Given the description of an element on the screen output the (x, y) to click on. 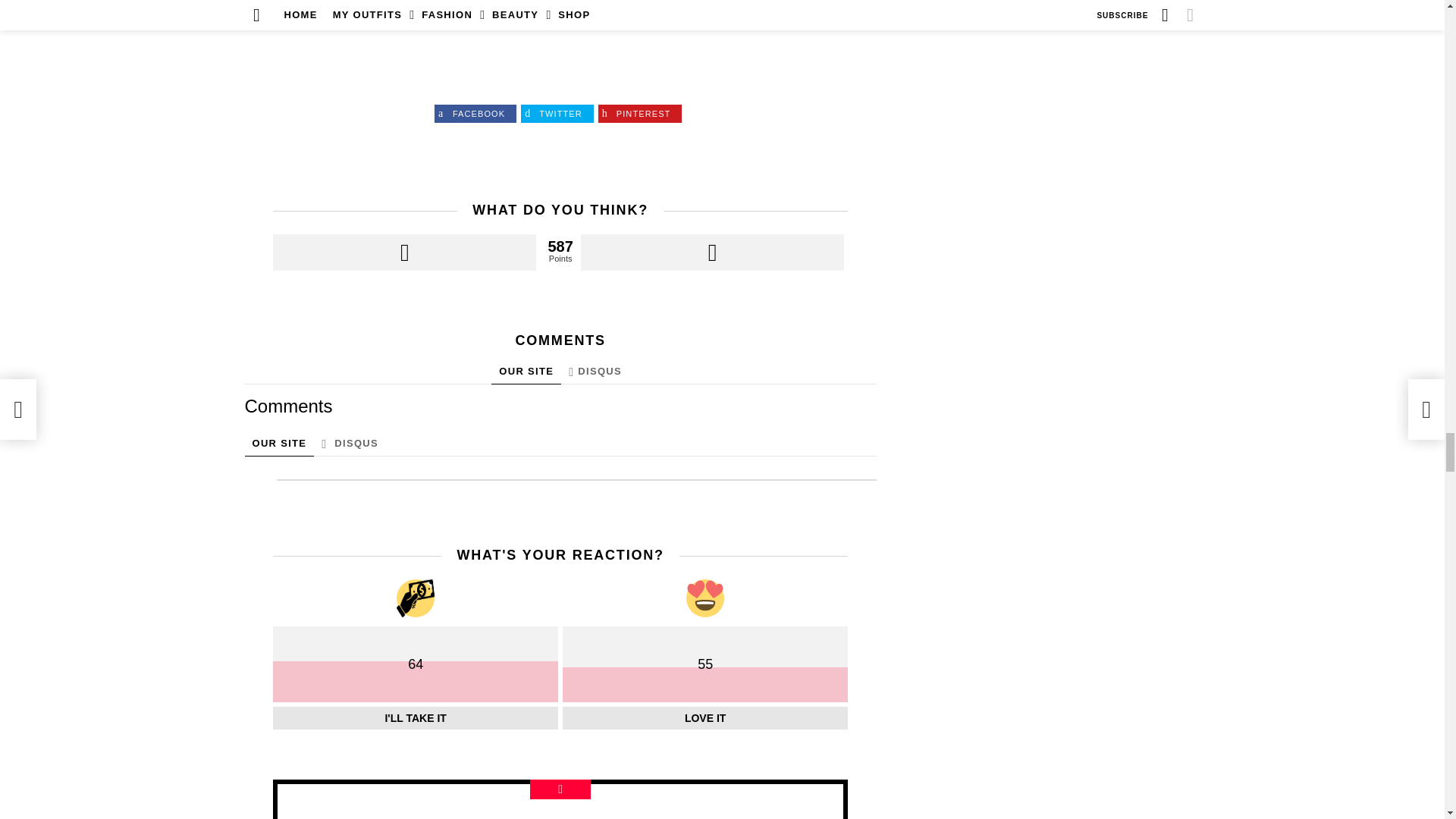
Share on Twitter (557, 113)
Share on Pinterest (640, 113)
Upvote (404, 252)
Share on Facebook (474, 113)
